Given the description of an element on the screen output the (x, y) to click on. 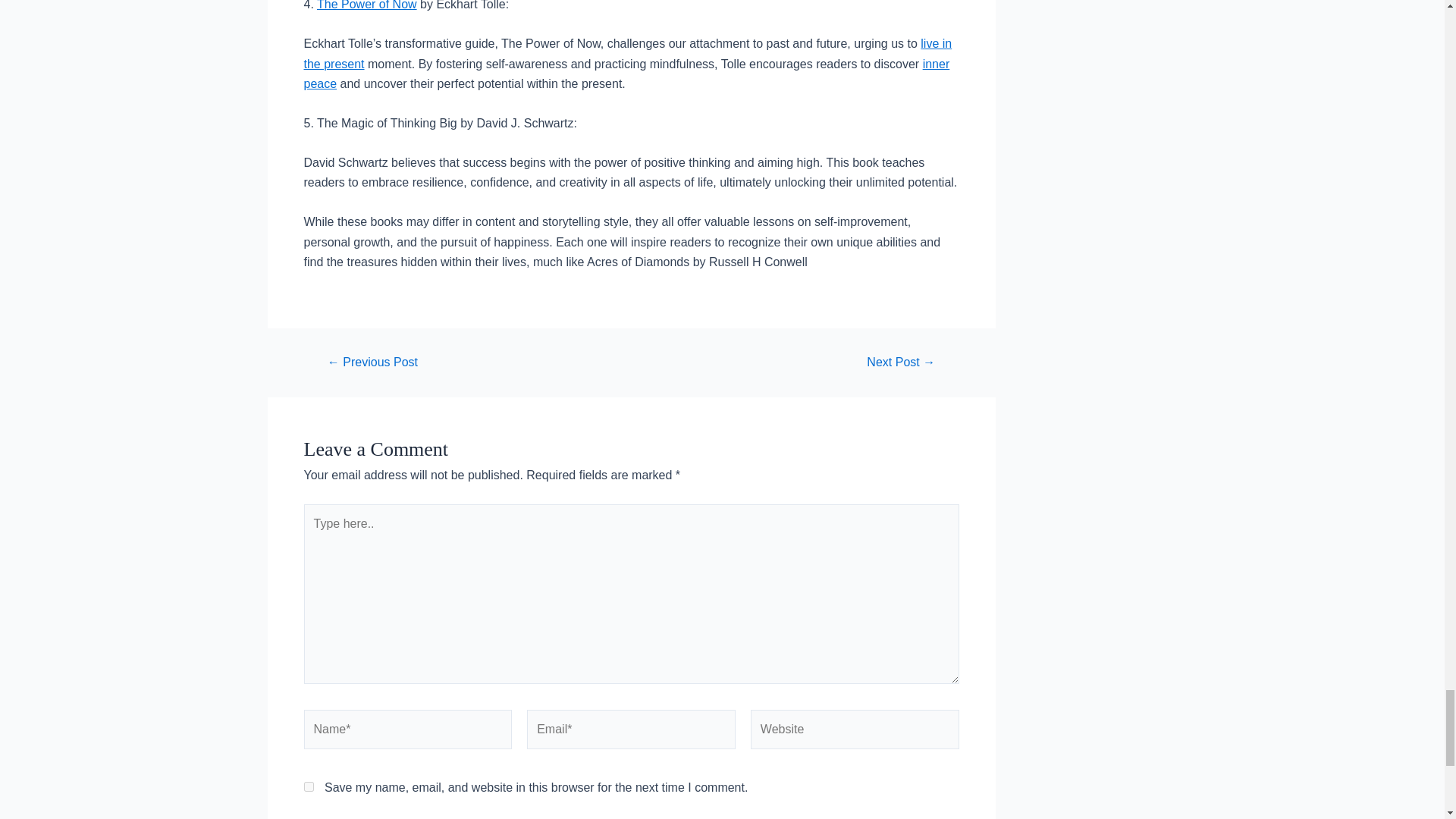
yes (307, 786)
